Given the description of an element on the screen output the (x, y) to click on. 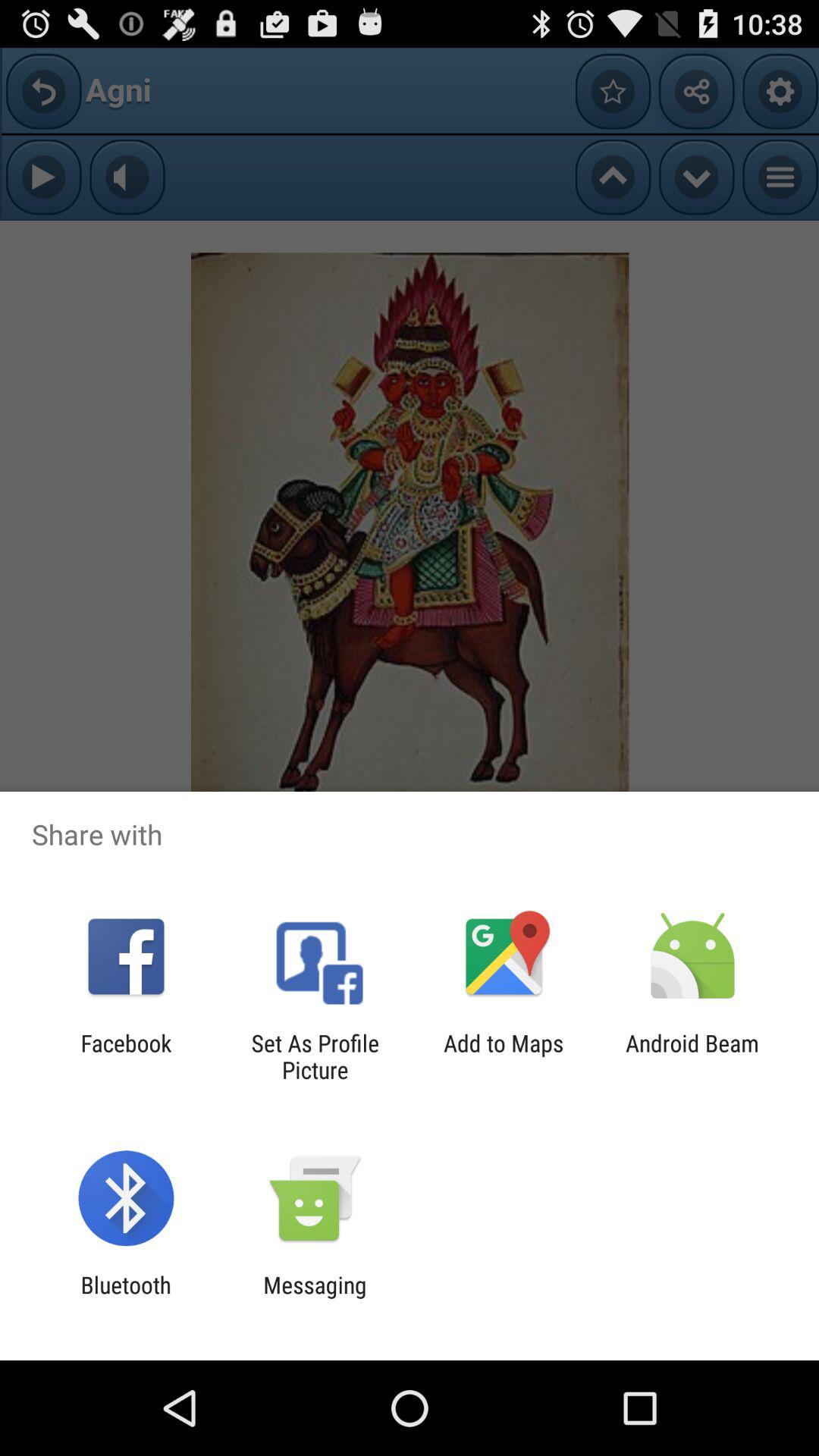
tap the add to maps icon (503, 1056)
